Given the description of an element on the screen output the (x, y) to click on. 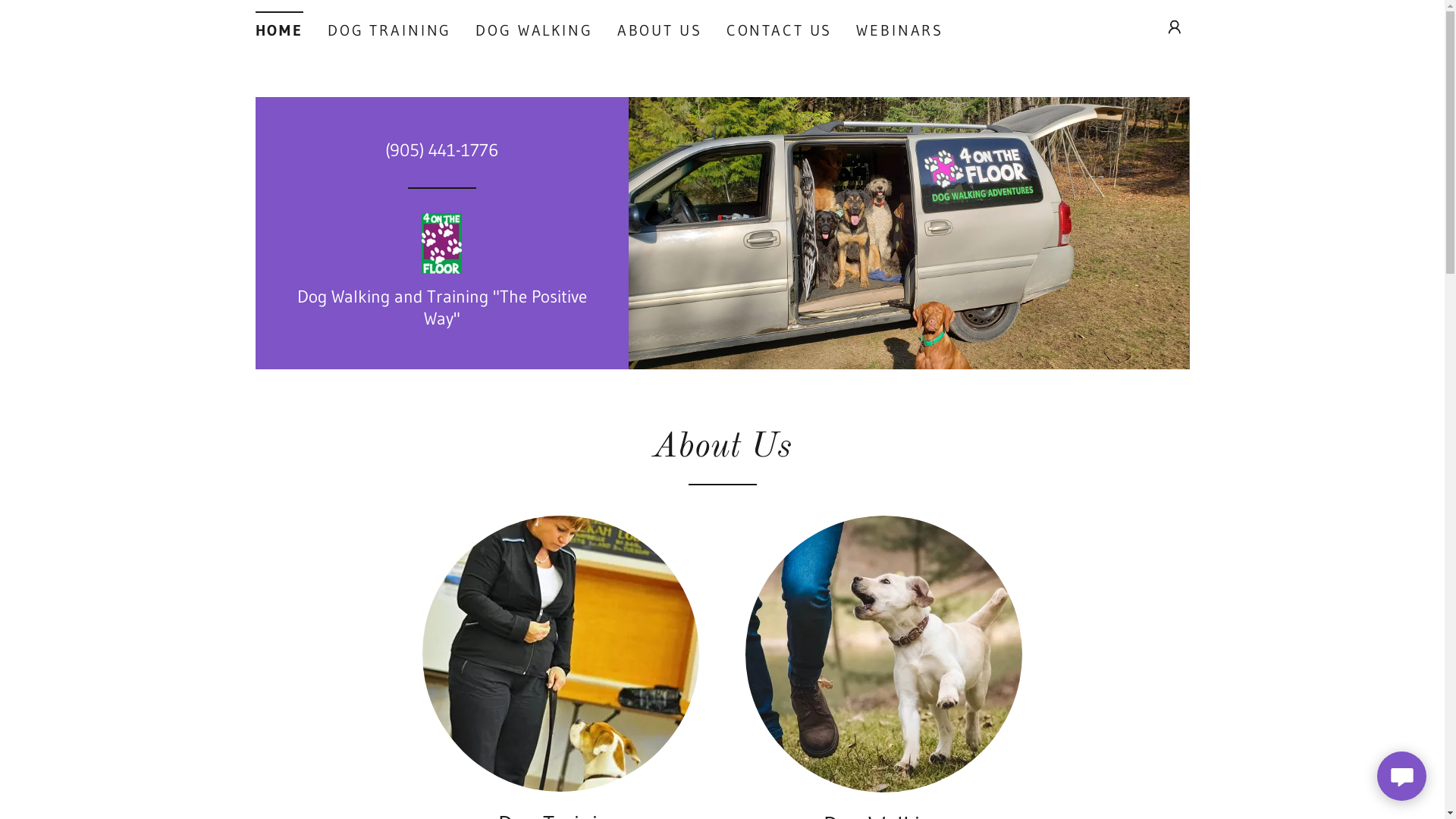
DOG TRAINING Element type: text (389, 29)
CONTACT US Element type: text (779, 29)
HOME Element type: text (278, 25)
WEBINARS Element type: text (899, 29)
(905) 441-1776 Element type: text (441, 149)
ABOUT US Element type: text (659, 29)
DOG WALKING Element type: text (533, 29)
4 on the Floor Dog Walking and Training Element type: hover (441, 241)
